Given the description of an element on the screen output the (x, y) to click on. 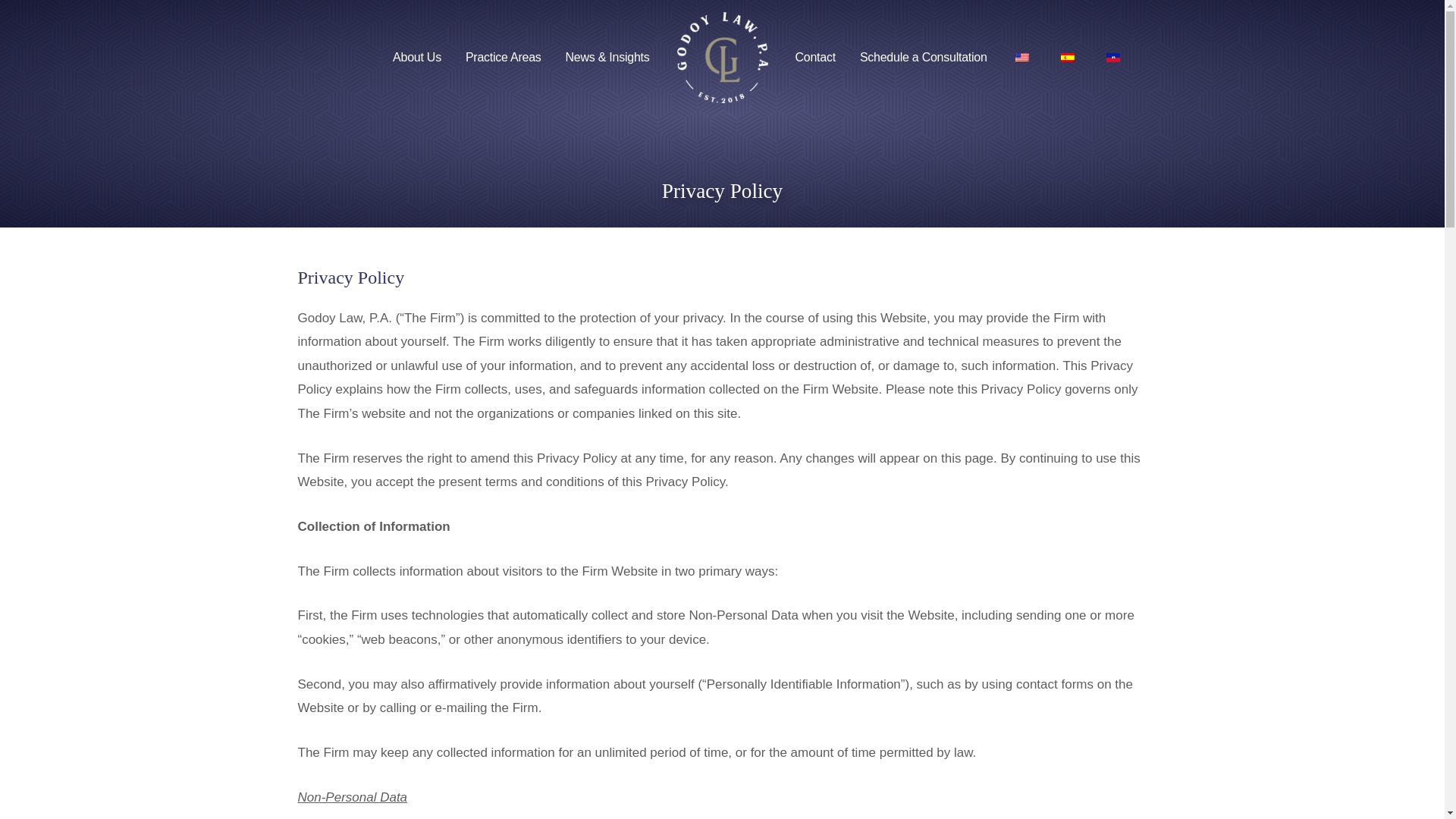
English (1021, 57)
Practice Areas (502, 57)
Schedule a Consultation (922, 57)
